Given the description of an element on the screen output the (x, y) to click on. 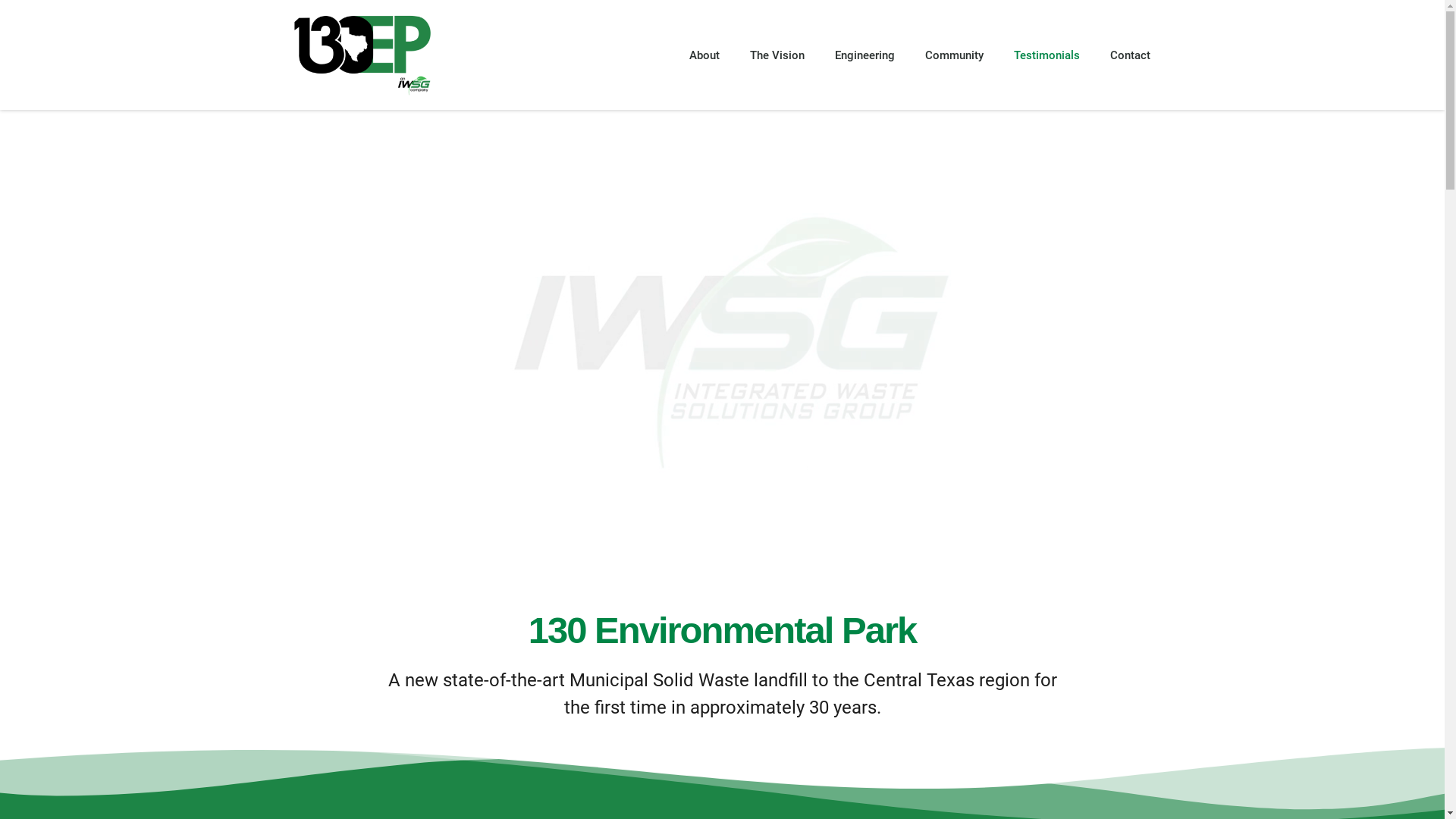
Community Element type: text (954, 54)
Engineering Element type: text (864, 54)
The Vision Element type: text (776, 54)
Testimonials Element type: text (1046, 54)
About Element type: text (704, 54)
Contact Element type: text (1130, 54)
